Given the description of an element on the screen output the (x, y) to click on. 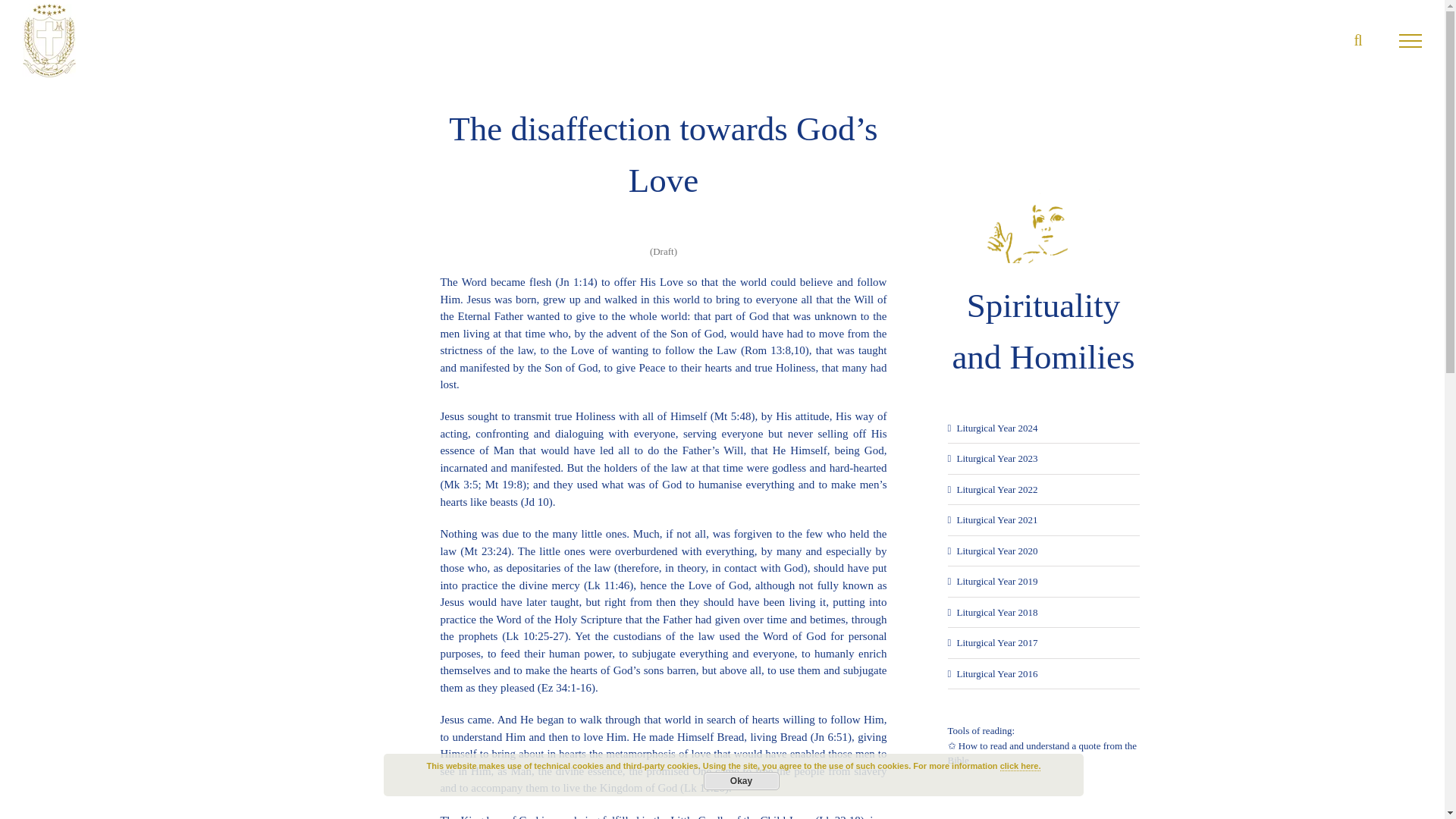
Liturgical Year 2019 (997, 581)
Liturgical Year 2020 (997, 550)
click here. (1020, 766)
Liturgical Year 2023 (997, 458)
Liturgical Year 2021 (997, 519)
Liturgical Year 2022 (997, 489)
Liturgical Year 2024 (997, 428)
Spirituality and Homilies (1043, 276)
Liturgical Year 2016 (997, 673)
Liturgical Year 2018 (997, 612)
